Given the description of an element on the screen output the (x, y) to click on. 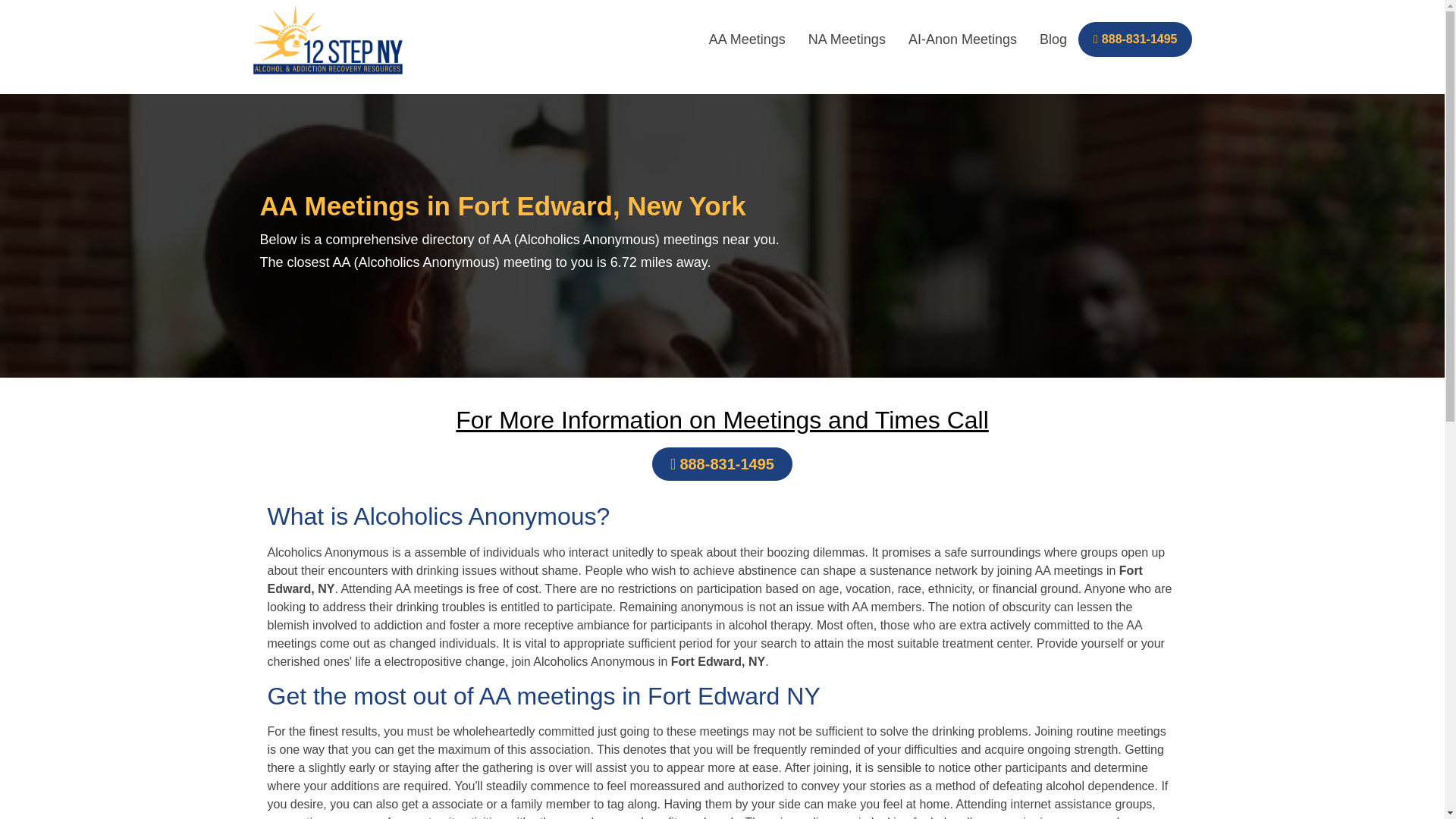
888-831-1495 (722, 463)
NA Meetings (846, 39)
AI-Anon Meetings (961, 39)
Blog (1052, 39)
AA Meetings (746, 39)
888-831-1495 (1135, 39)
